Given the description of an element on the screen output the (x, y) to click on. 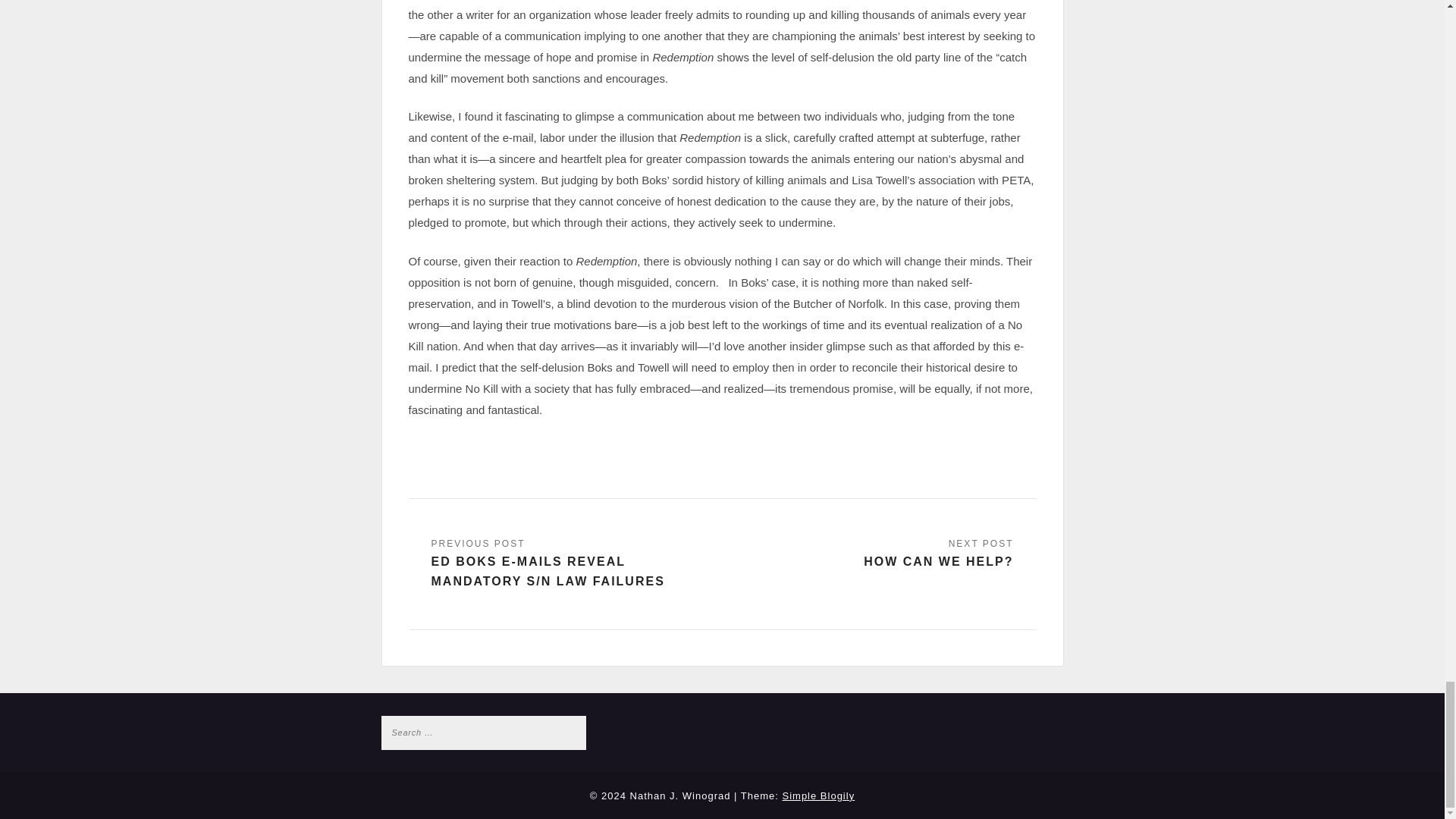
Simple Blogily (819, 795)
HOW CAN WE HELP? (938, 554)
